Given the description of an element on the screen output the (x, y) to click on. 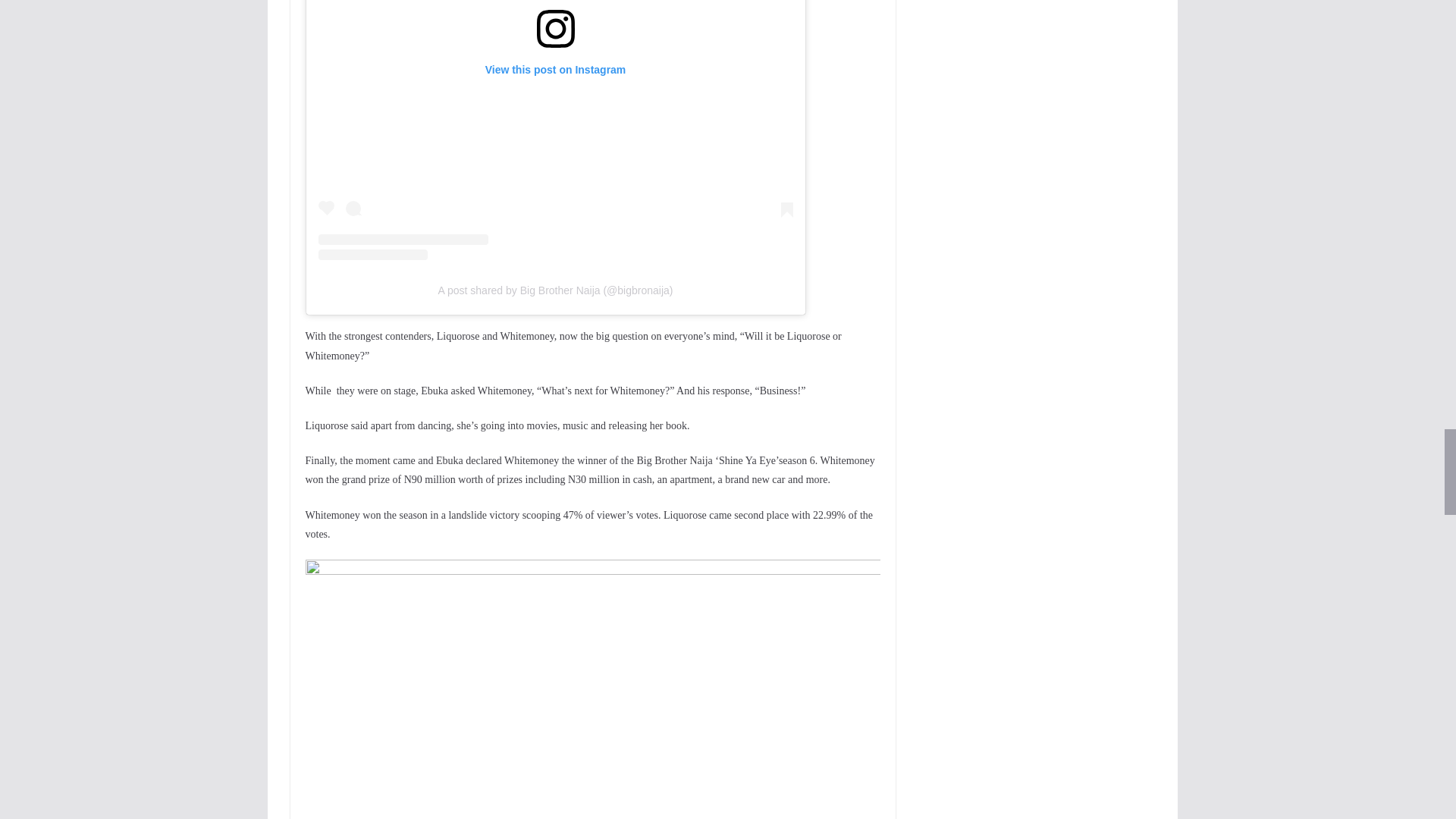
View this post on Instagram (555, 130)
